Given the description of an element on the screen output the (x, y) to click on. 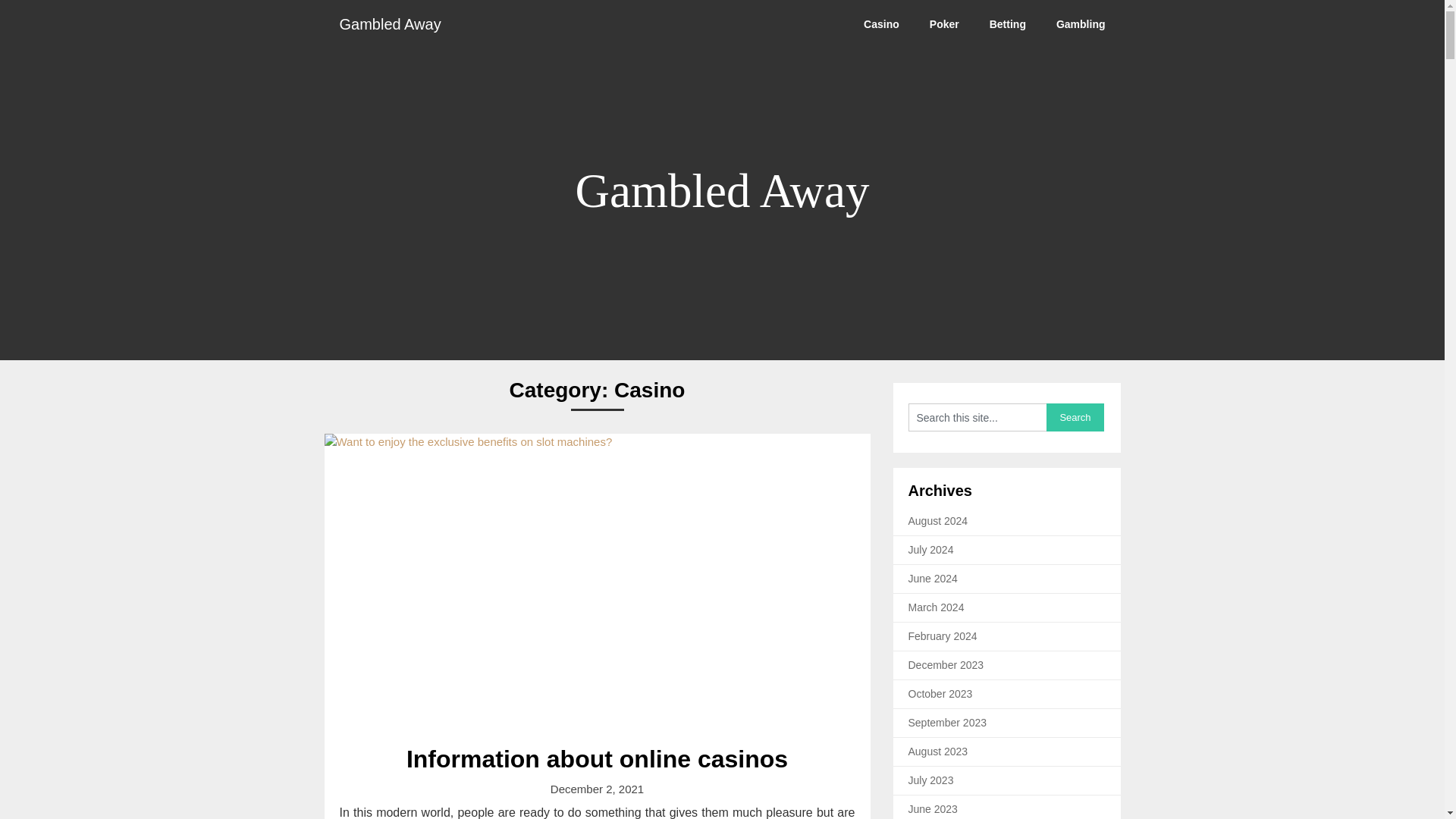
Casino (881, 24)
Information about online casinos (596, 759)
Search this site... (977, 417)
Gambling (1081, 24)
Information about online casinos (596, 759)
Poker (944, 24)
Betting (1007, 24)
Search (1075, 417)
Gambled Away (390, 24)
